Given the description of an element on the screen output the (x, y) to click on. 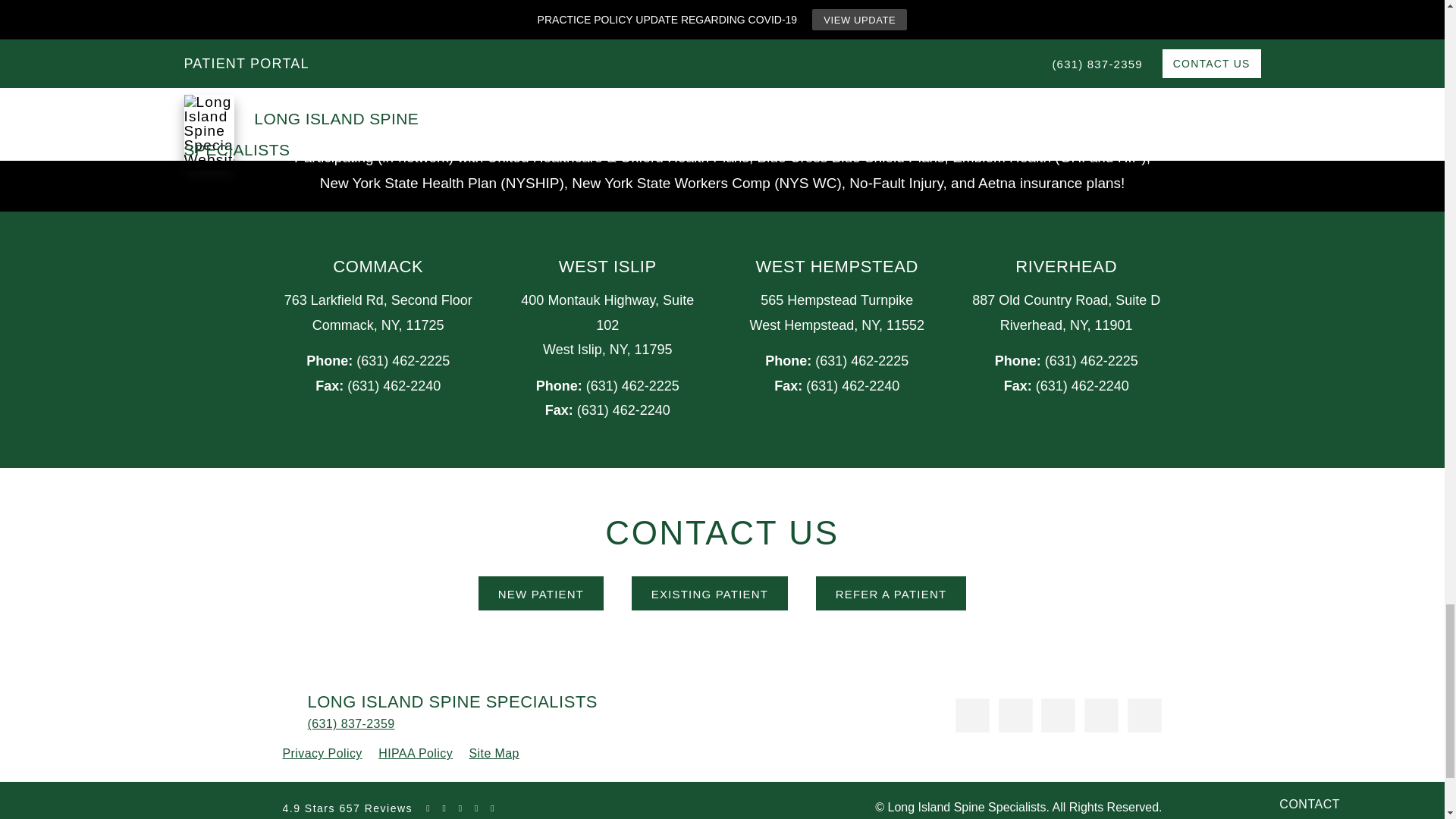
Long Island Spine Specialists on Youtube (1053, 709)
Long Island Spine Specialists on Twitter (1009, 709)
Long Island Spine Specialists on Instagram (1095, 709)
Long Island Spine Specialists on Linkedin (1138, 709)
Long Island Spine Specialists on Facebook (965, 709)
